Given the description of an element on the screen output the (x, y) to click on. 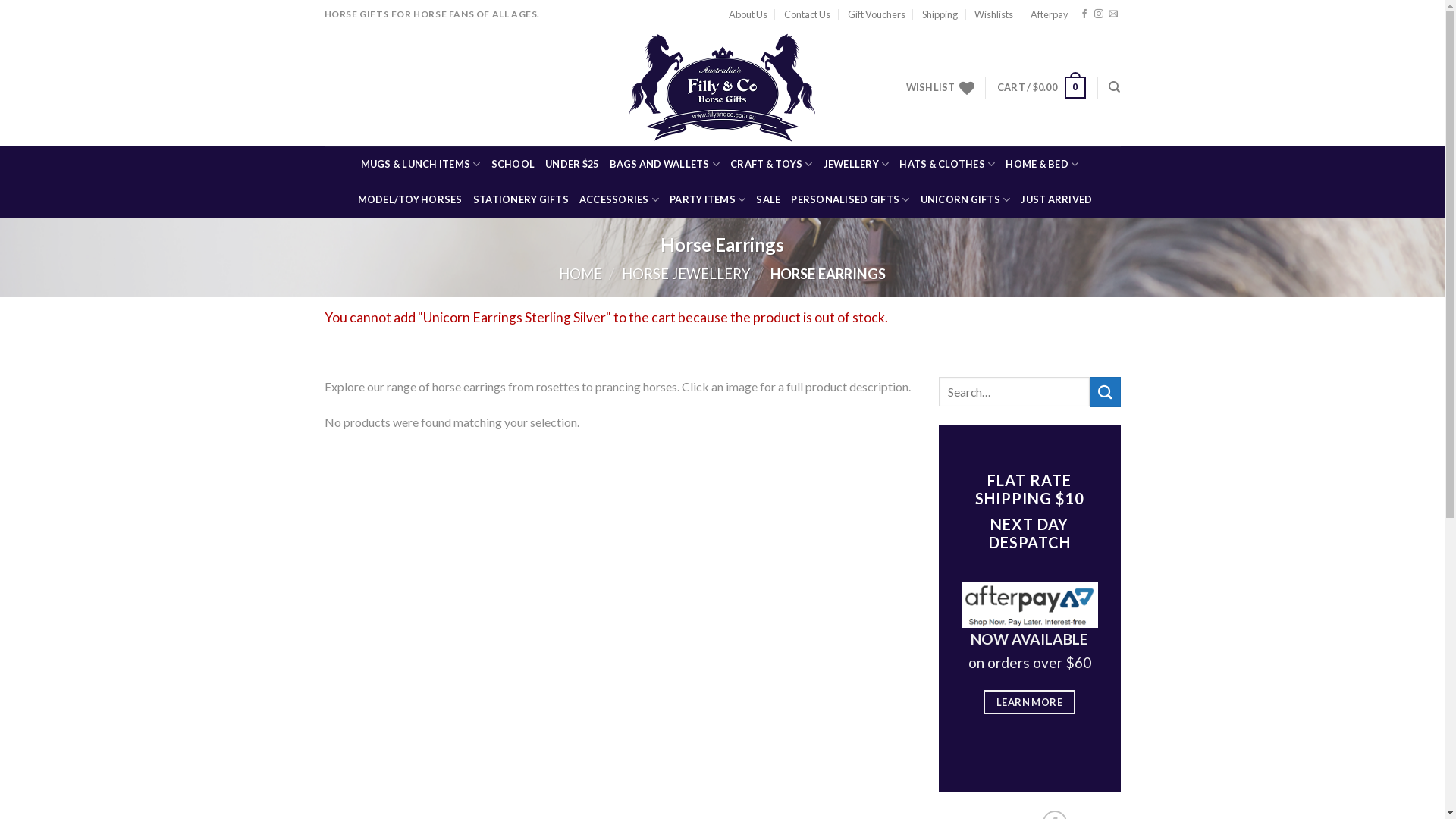
UNDER $25 Element type: text (571, 164)
SALE Element type: text (768, 199)
HOME Element type: text (580, 273)
PERSONALISED GIFTS Element type: text (849, 199)
UNICORN GIFTS Element type: text (965, 199)
STATIONERY GIFTS Element type: text (520, 199)
PARTY ITEMS Element type: text (707, 199)
MODEL/TOY HORSES Element type: text (409, 199)
HATS & CLOTHES Element type: text (946, 164)
CRAFT & TOYS Element type: text (771, 164)
Follow on Instagram Element type: hover (1098, 14)
About Us Element type: text (747, 14)
Contact Us Element type: text (807, 14)
JUST ARRIVED Element type: text (1056, 199)
BAGS AND WALLETS Element type: text (664, 164)
JEWELLERY Element type: text (856, 164)
WISHLIST Element type: text (940, 87)
LEARN MORE Element type: text (1029, 702)
Wishlists Element type: text (993, 14)
Gift Vouchers Element type: text (876, 14)
CART / $0.00
0 Element type: text (1041, 87)
Shipping Element type: text (939, 14)
HOME & BED Element type: text (1041, 164)
MUGS & LUNCH ITEMS Element type: text (420, 164)
SCHOOL Element type: text (513, 164)
Afterpay Element type: text (1049, 14)
Follow on Facebook Element type: hover (1083, 14)
HORSE JEWELLERY Element type: text (685, 273)
Send us an email Element type: hover (1112, 14)
ACCESSORIES Element type: text (618, 199)
